Given the description of an element on the screen output the (x, y) to click on. 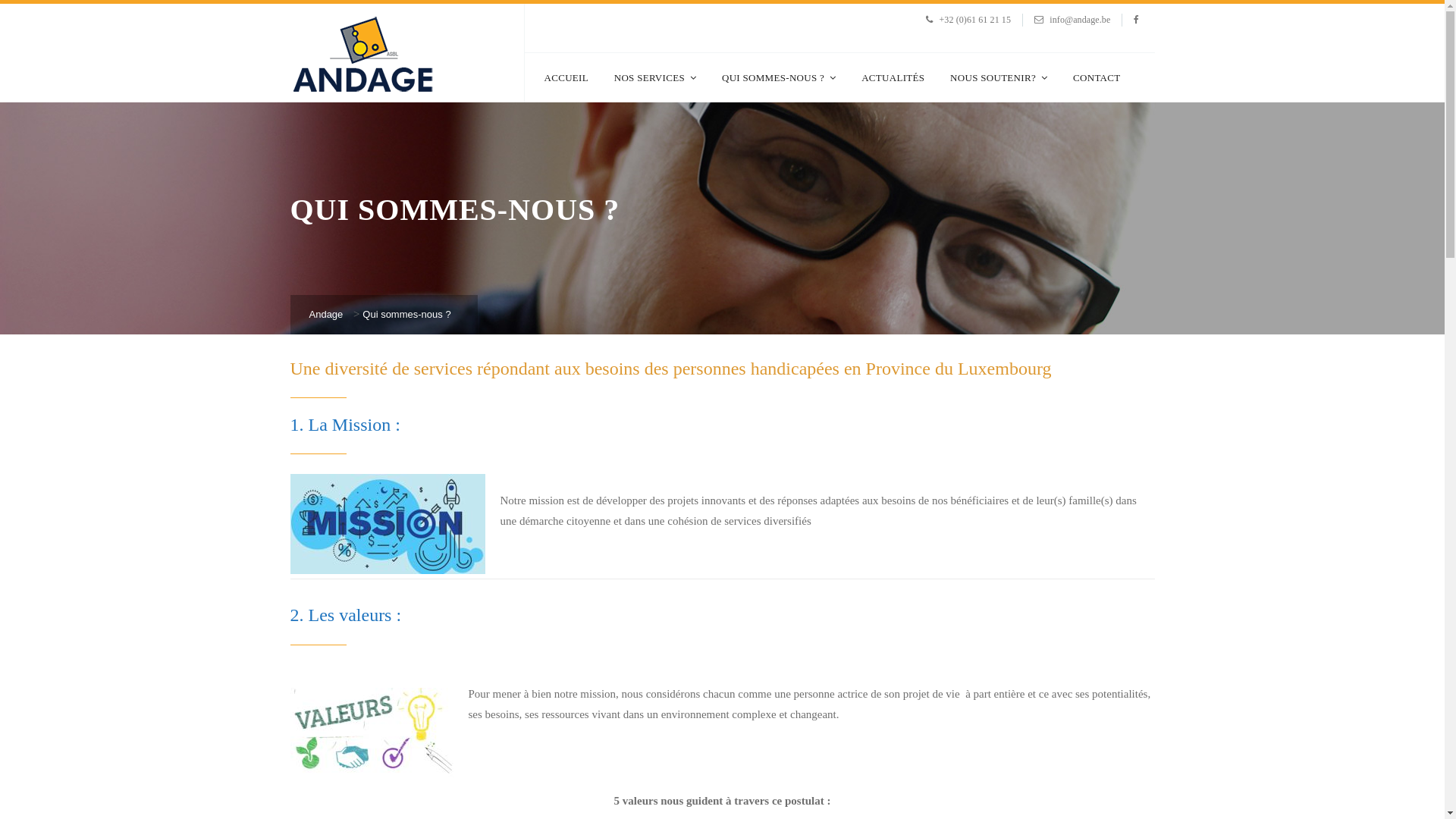
NOUS SOUTENIR? Element type: text (998, 77)
info@andage.be Element type: text (1079, 19)
QUI SOMMES-NOUS ? Element type: text (778, 77)
NOS SERVICES Element type: text (655, 77)
CONTACT Element type: text (1096, 77)
ACCUEIL Element type: text (566, 77)
Andage Element type: text (326, 314)
